Given the description of an element on the screen output the (x, y) to click on. 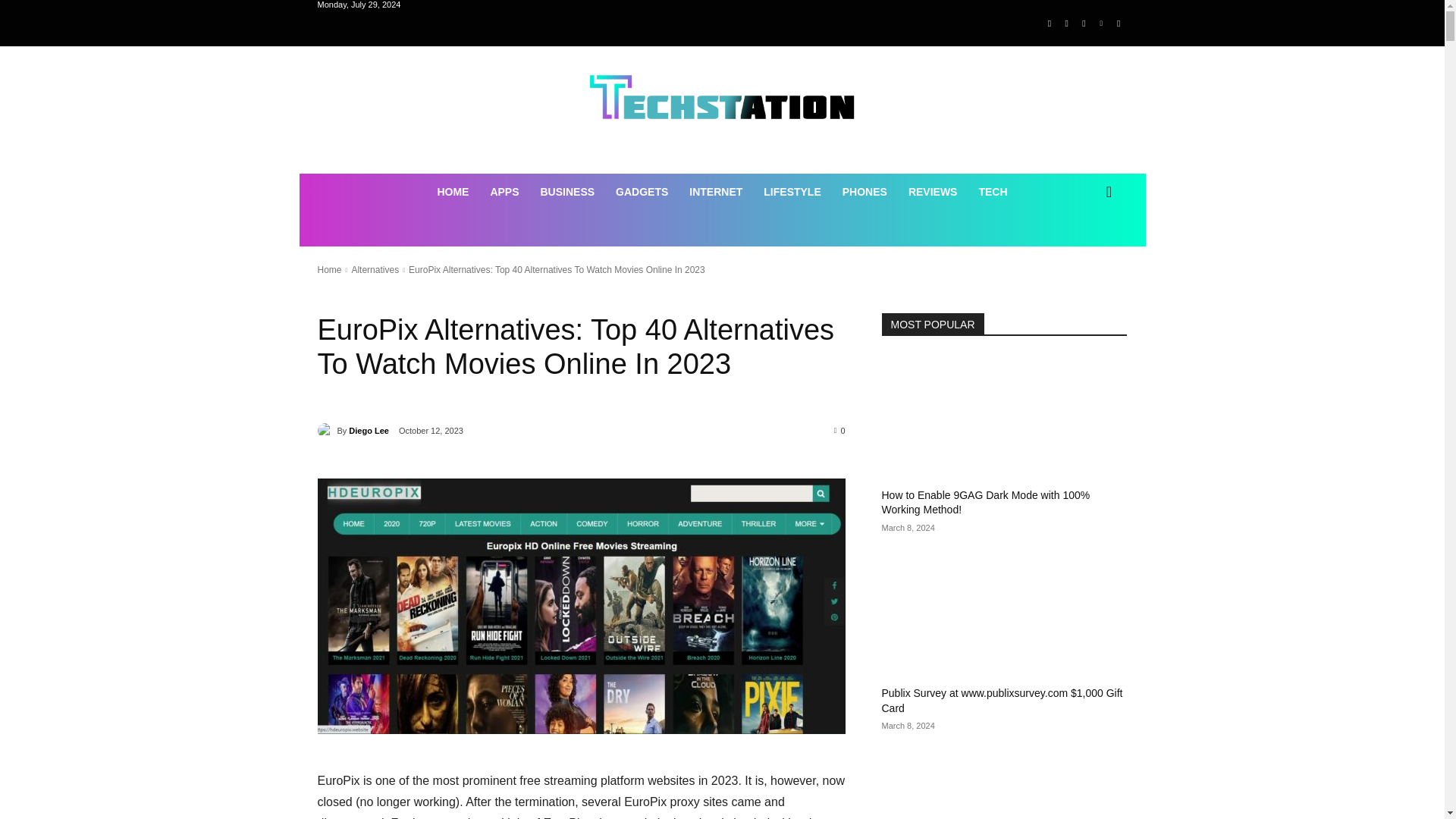
LIFESTYLE (791, 191)
Facebook (1049, 23)
PHONES (864, 191)
APPS (504, 191)
Diego Lee (368, 430)
BUSINESS (567, 191)
0 (839, 429)
REVIEWS (933, 191)
Twitter (1084, 23)
Instagram (1066, 23)
Vimeo (1101, 23)
Alternatives (374, 269)
GADGETS (641, 191)
Home (328, 269)
INTERNET (715, 191)
